Given the description of an element on the screen output the (x, y) to click on. 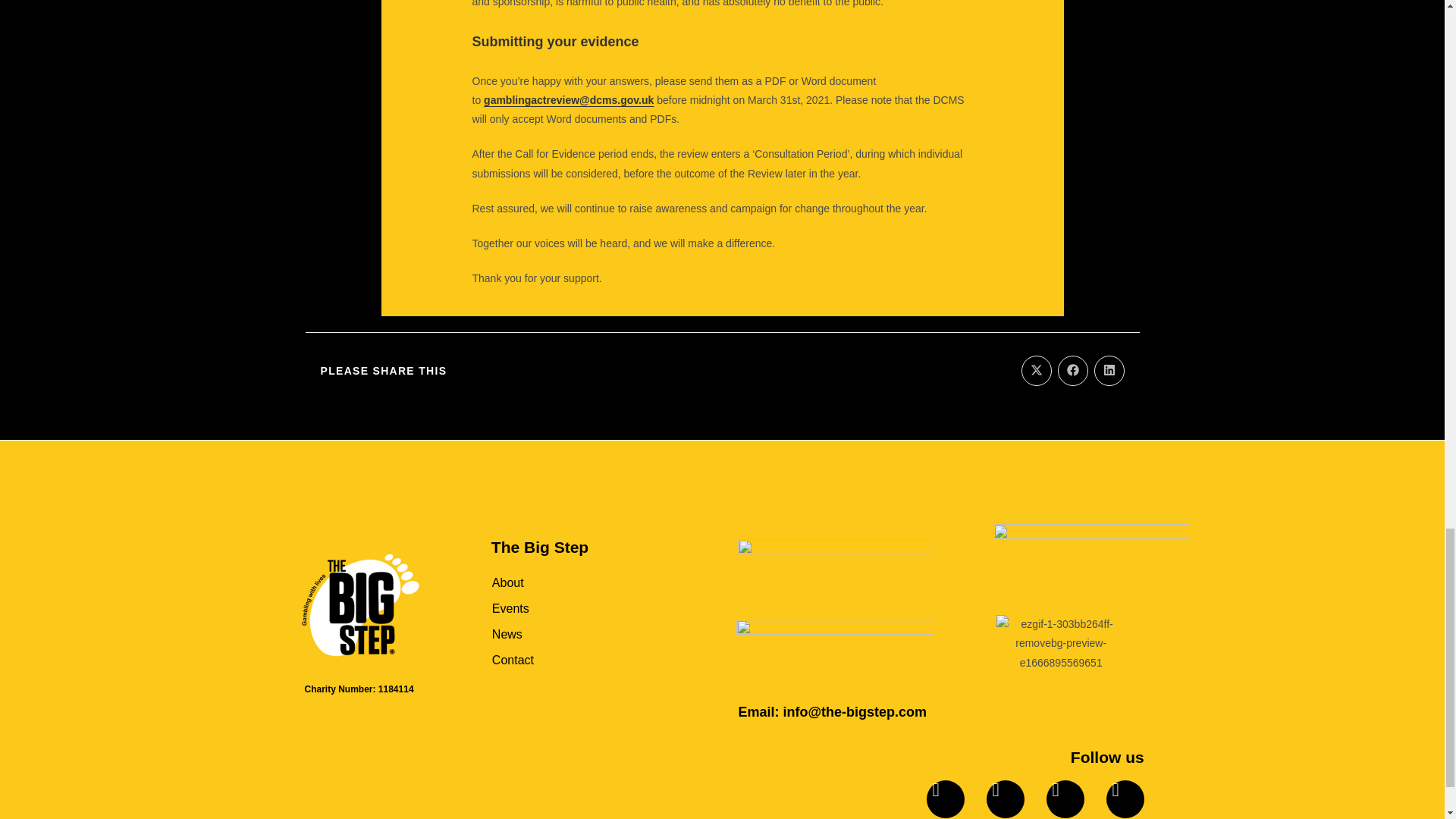
ezgif-1-303bb264ff-removebg-preview-e1666895569651 (1060, 643)
News (577, 634)
Events (577, 608)
Contact (577, 660)
About (577, 583)
